Given the description of an element on the screen output the (x, y) to click on. 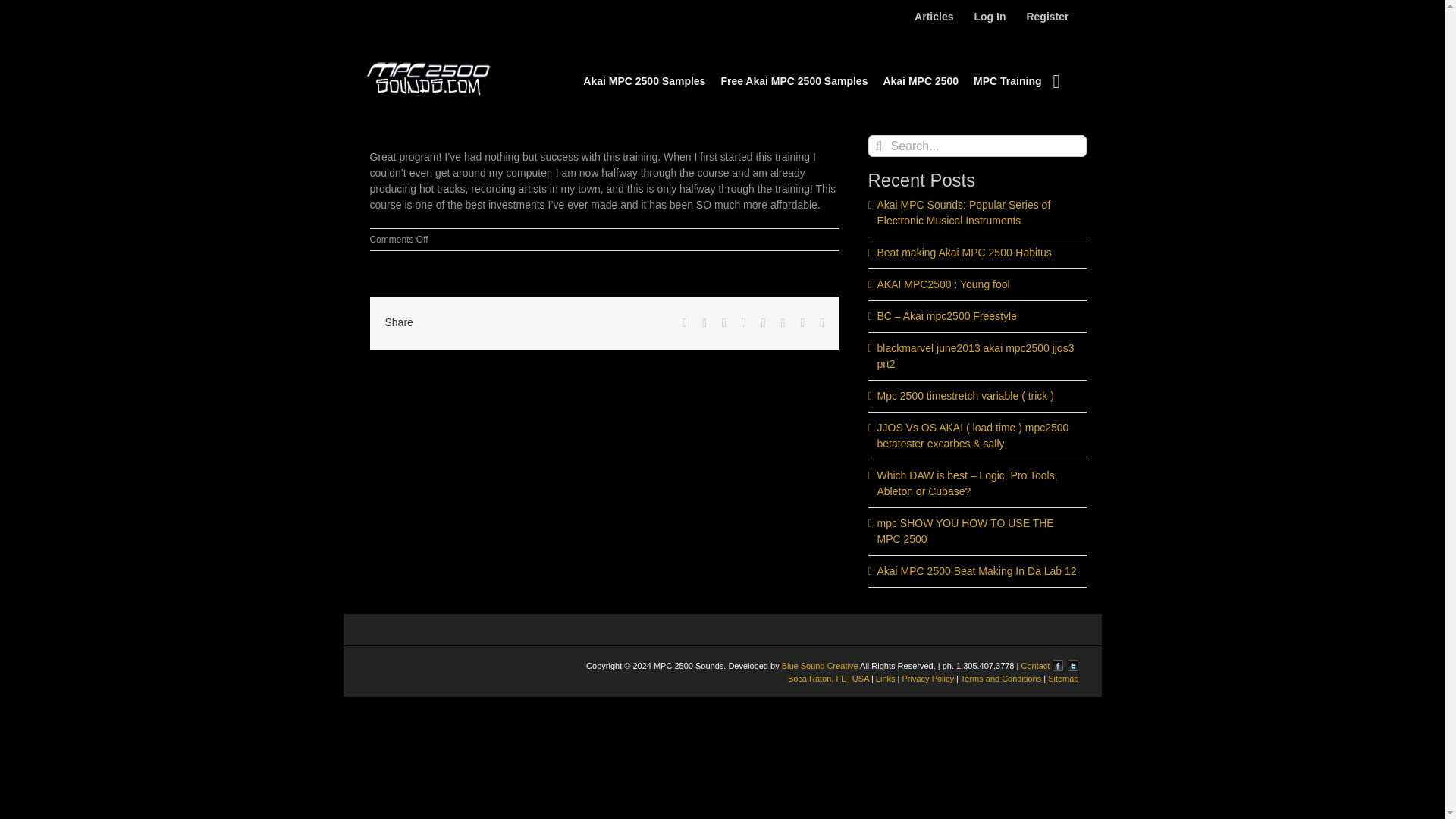
Free Akai MPC 2500 Samples (793, 81)
MPC Training (1007, 81)
Log In (988, 16)
Akai MPC 2500 Samples (643, 81)
Articles (933, 16)
Akai MPC 2500 (920, 81)
Register (1047, 16)
